Given the description of an element on the screen output the (x, y) to click on. 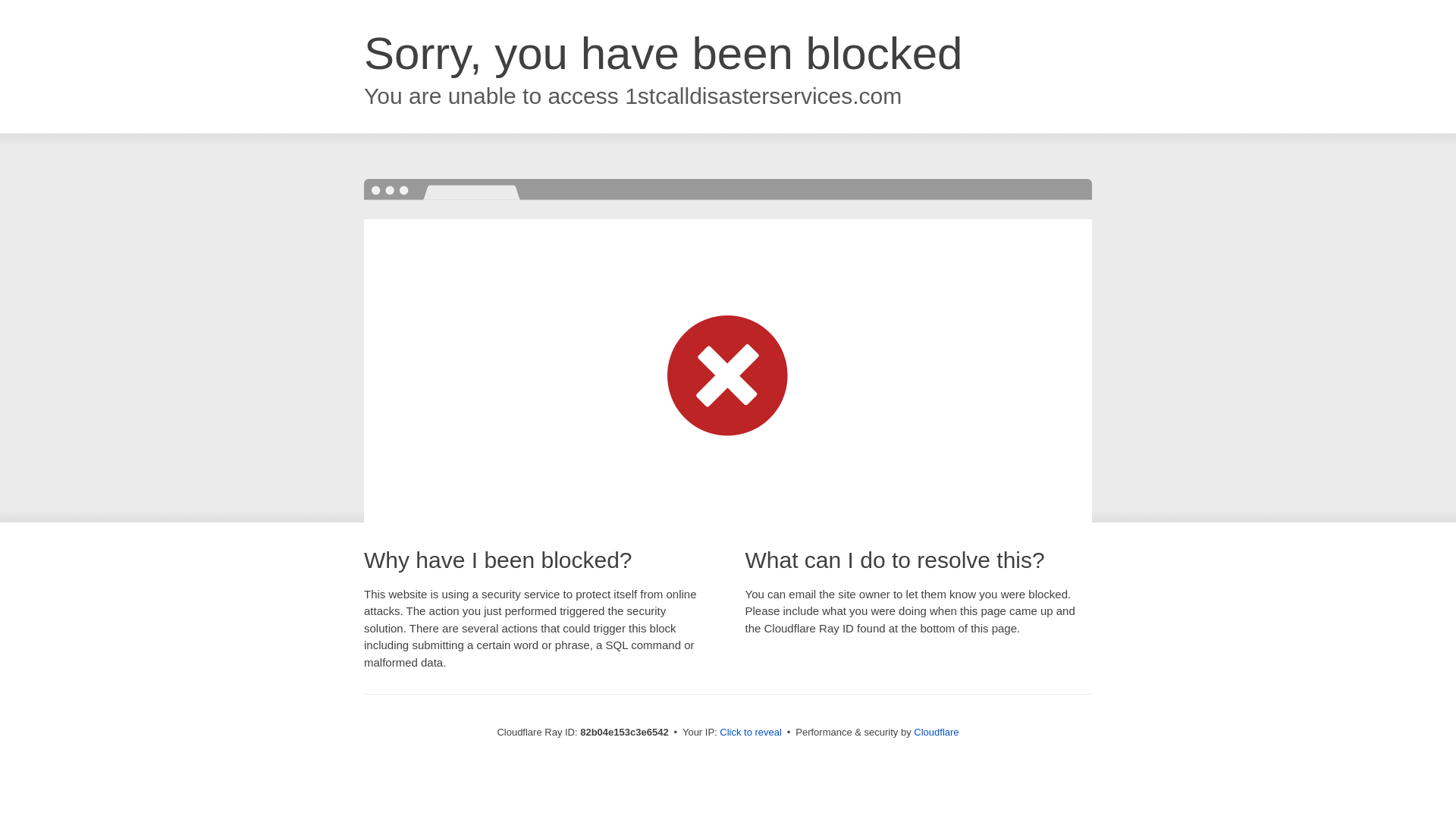
Cloudflare Element type: text (935, 731)
Click to reveal Element type: text (750, 732)
